Given the description of an element on the screen output the (x, y) to click on. 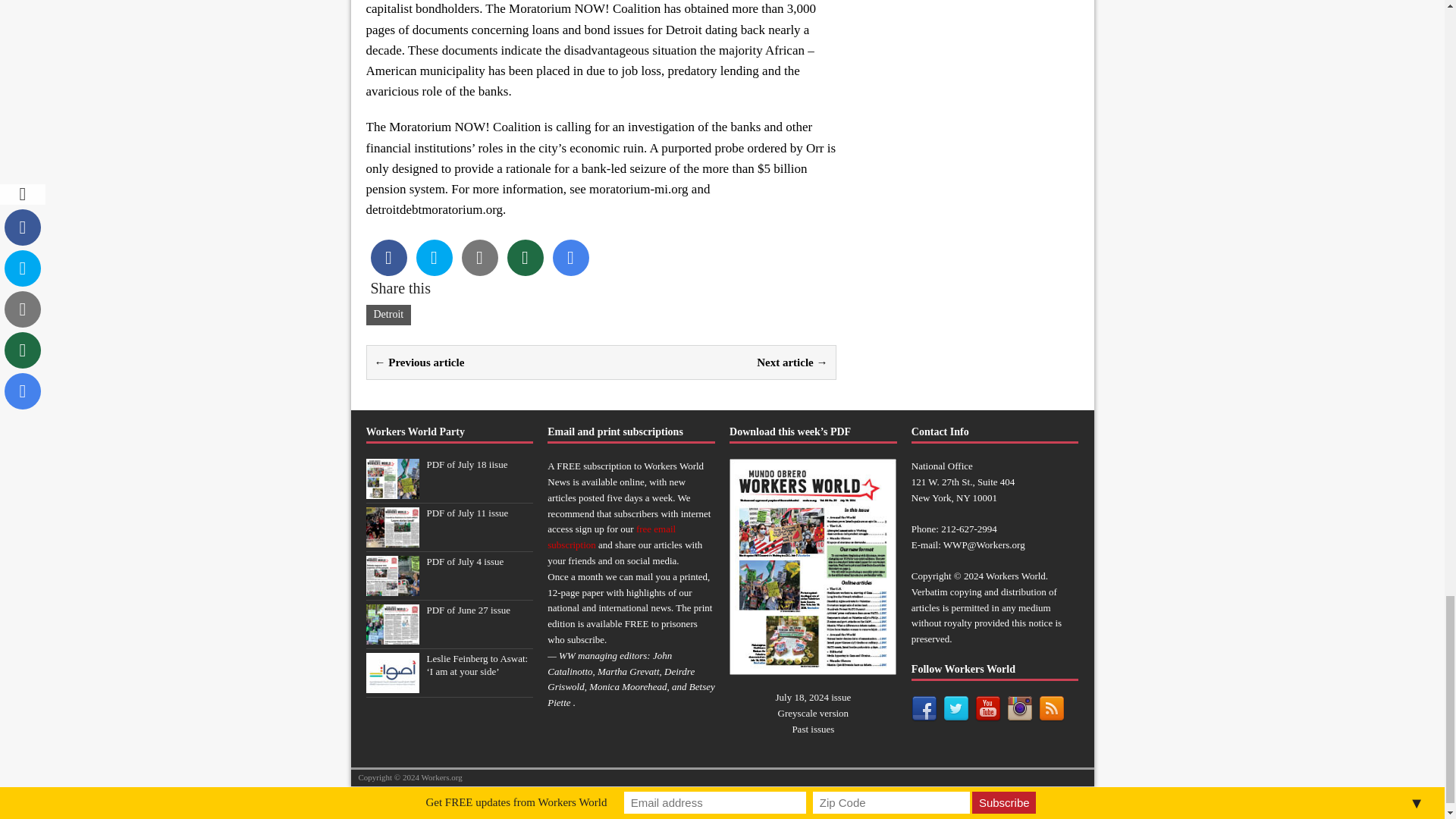
PDF of July 18 iisue (466, 464)
PDF of June 27 issue (468, 609)
PDF of July 11 issue (467, 512)
PDF of July 18 iisue (392, 490)
PDF of June 27 issue (392, 635)
PDF of July 11 issue (392, 538)
PDF of July 4 issue (392, 586)
PDF of July 4 issue (464, 561)
